Given the description of an element on the screen output the (x, y) to click on. 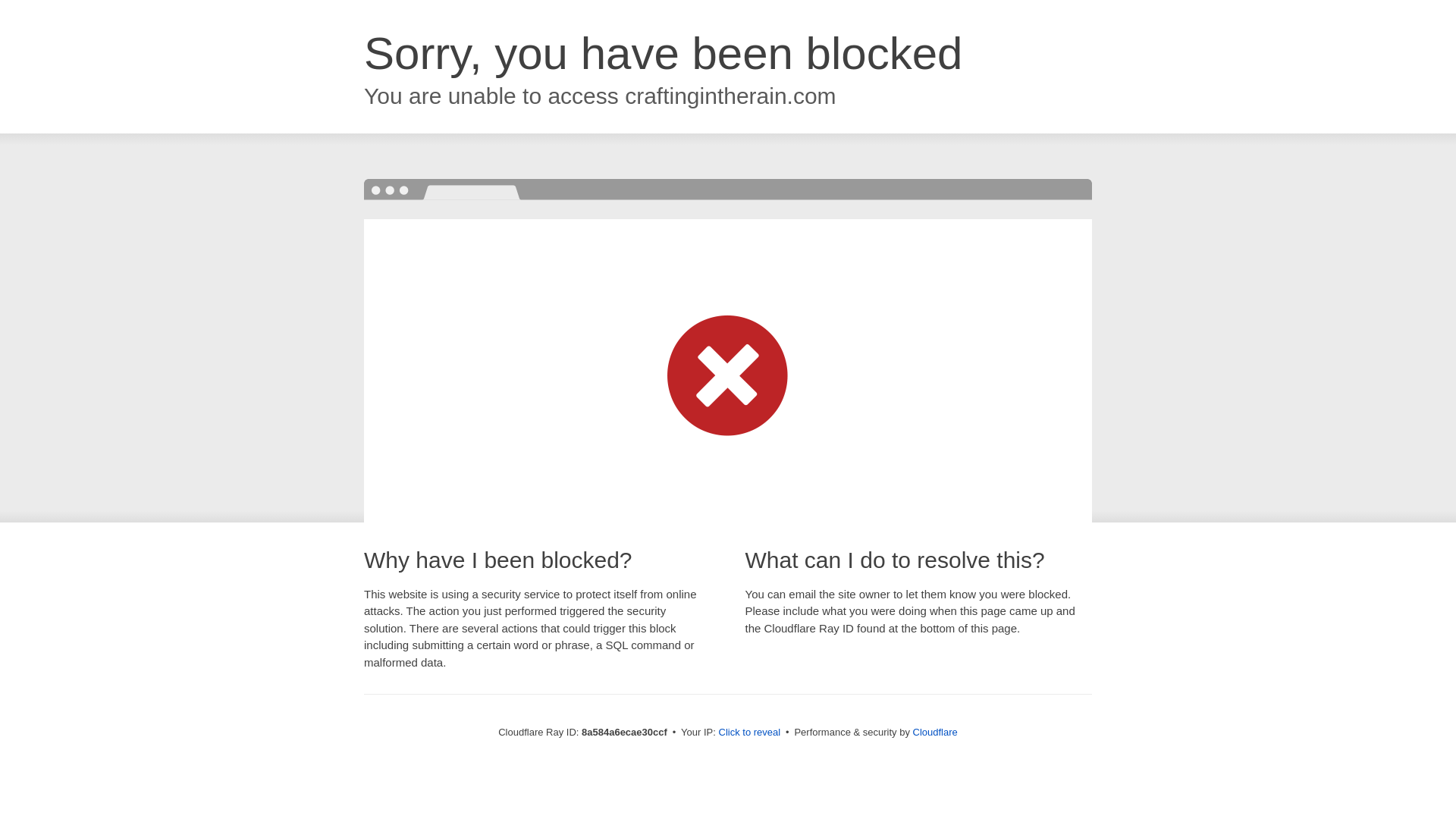
Cloudflare (935, 731)
Click to reveal (749, 732)
